Given the description of an element on the screen output the (x, y) to click on. 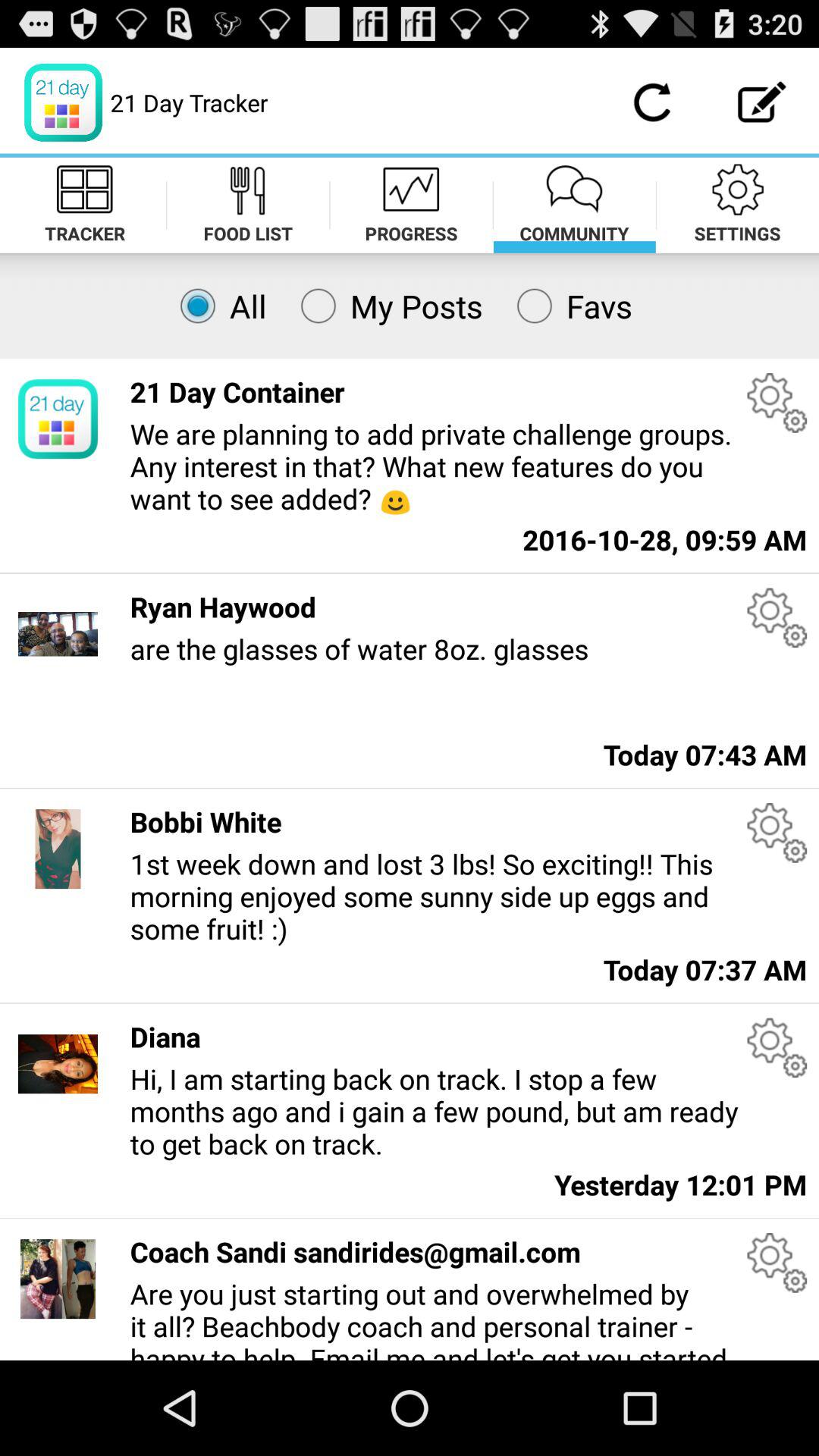
settings or more option (777, 1047)
